Given the description of an element on the screen output the (x, y) to click on. 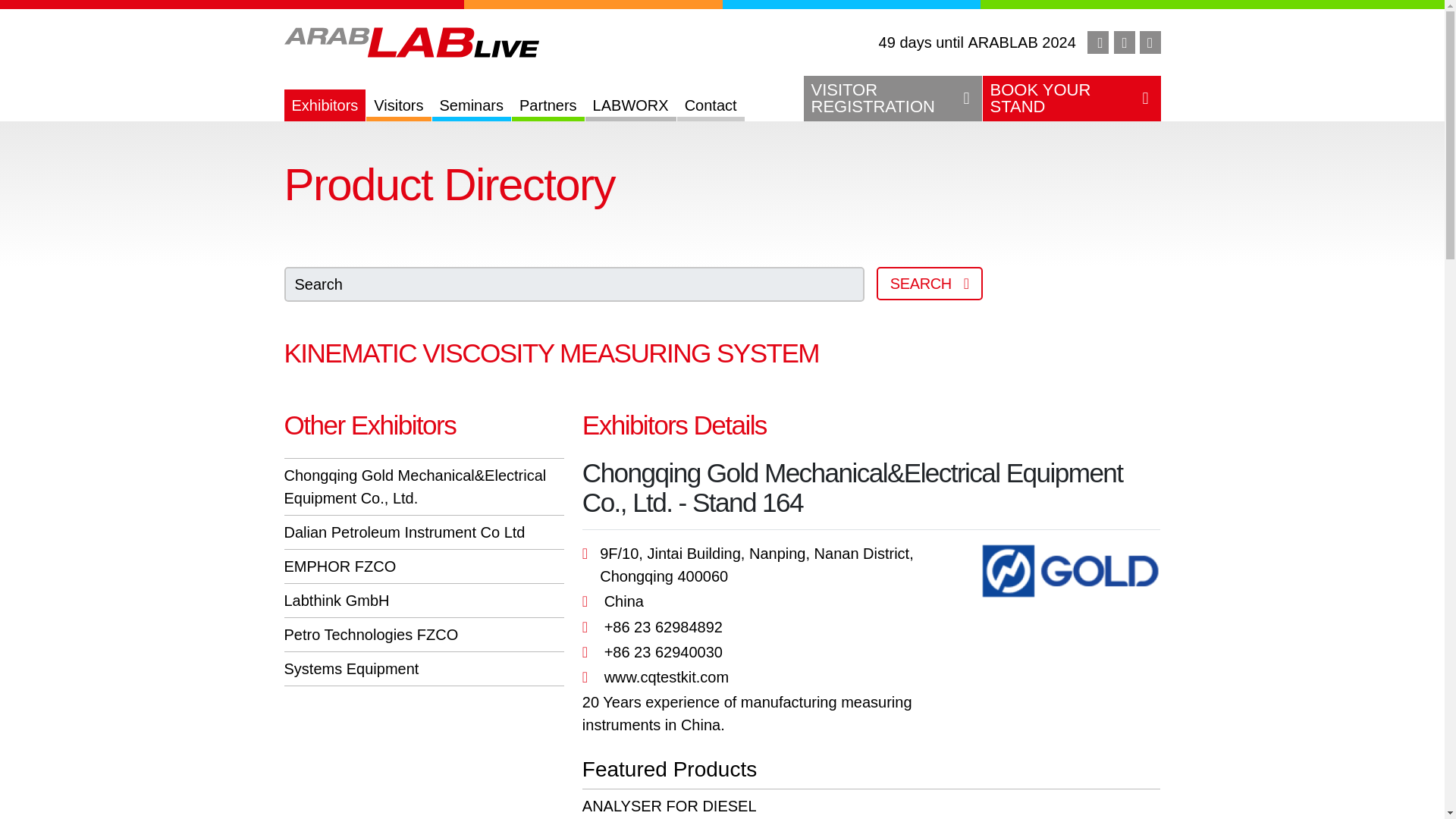
Petro Technologies FZCO (370, 634)
SEARCH (929, 283)
Systems Equipment (351, 668)
Seminars (892, 98)
Labthink GmbH (471, 105)
x (335, 600)
LABWORX (1071, 98)
Partners (1149, 42)
